Given the description of an element on the screen output the (x, y) to click on. 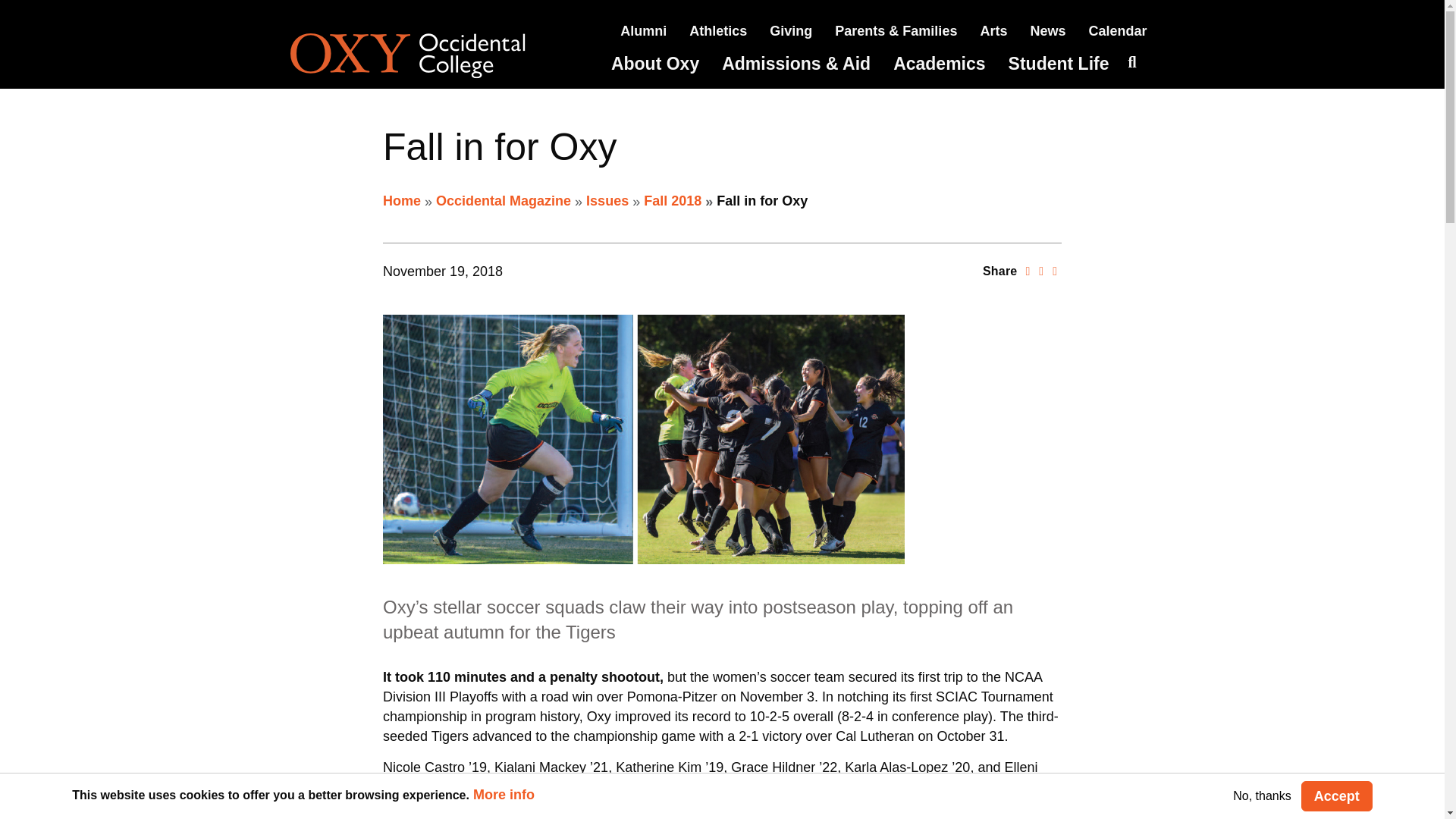
Calendar (1117, 30)
Athletics (717, 30)
Arts (993, 30)
About Oxy (654, 63)
Home (428, 55)
Giving (791, 30)
Academics (938, 63)
Student Life (1059, 63)
Alumni (643, 30)
News (1047, 30)
